Given the description of an element on the screen output the (x, y) to click on. 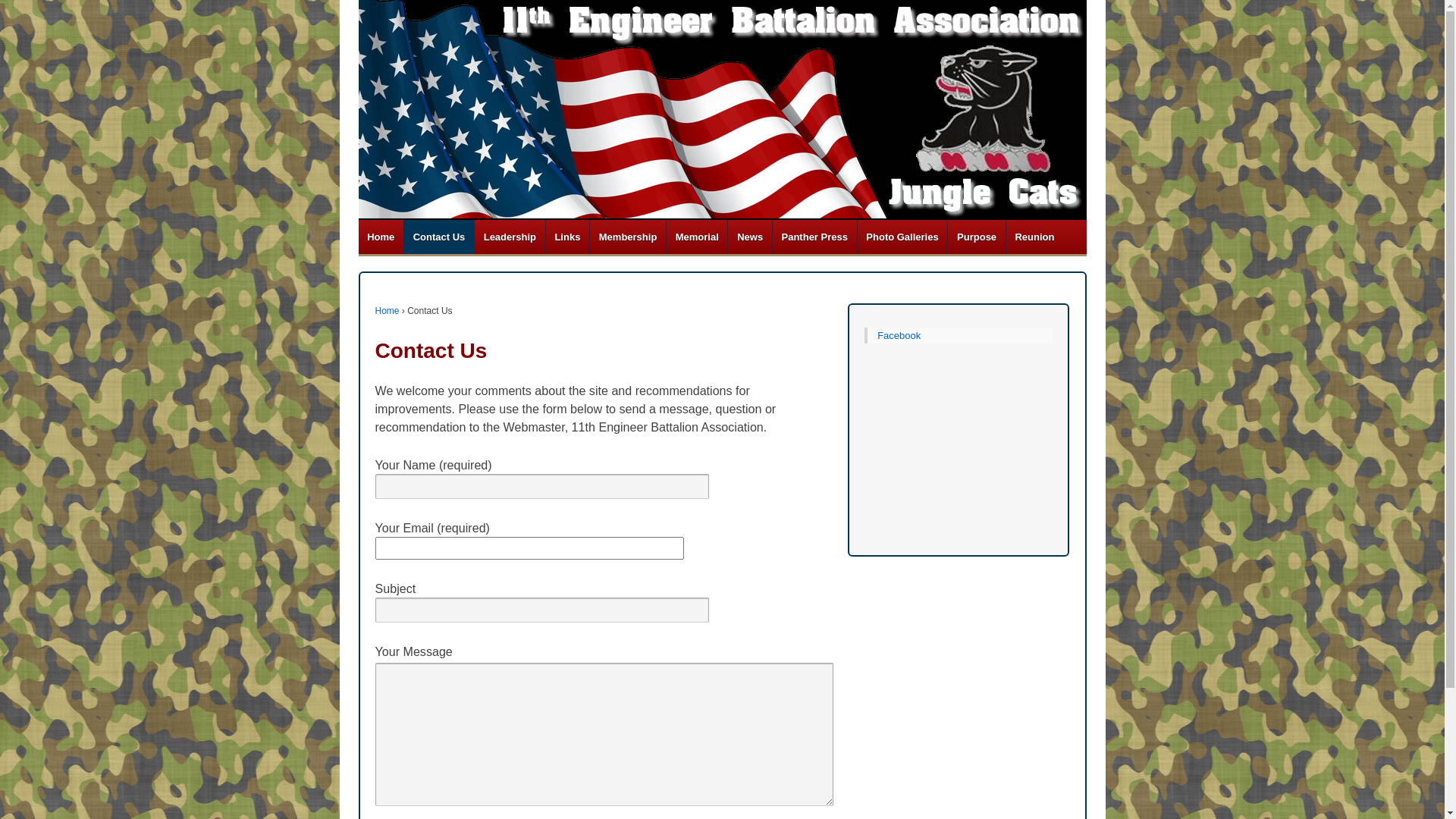
Photo Galleries Element type: text (901, 236)
Membership Element type: text (627, 236)
Panther Press Element type: text (813, 236)
Facebook Element type: text (898, 335)
Reunion Element type: text (1034, 236)
Memorial Element type: text (696, 236)
Contact Us Element type: text (438, 236)
Links Element type: text (567, 236)
Purpose Element type: text (975, 236)
Home Element type: text (386, 310)
News Element type: text (749, 236)
Home Element type: text (380, 236)
Leadership Element type: text (509, 236)
